Given the description of an element on the screen output the (x, y) to click on. 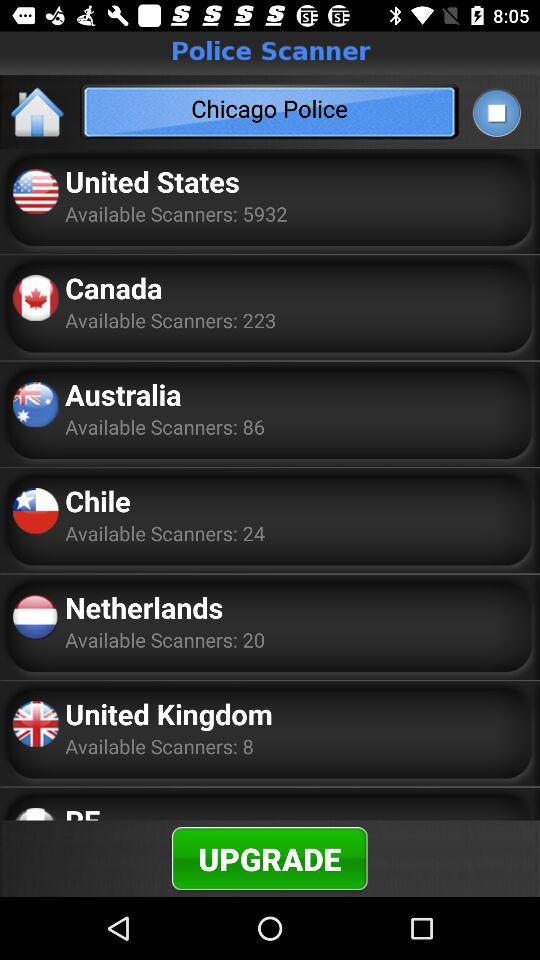
tap the icon to the left of the upgrade button (82, 810)
